Given the description of an element on the screen output the (x, y) to click on. 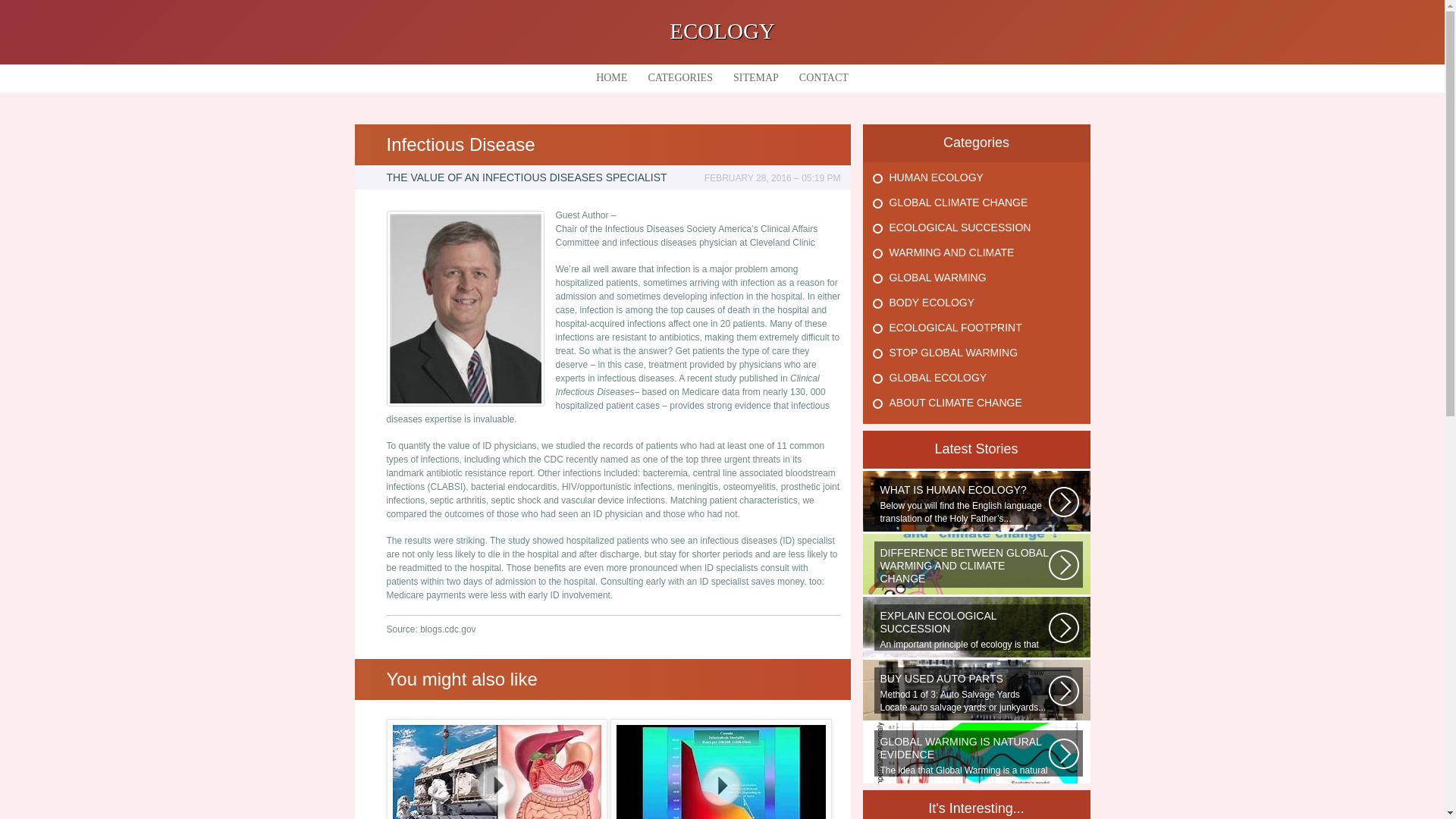
HUMAN ECOLOGY (935, 177)
View all posts filed under Ecological Succession (959, 227)
ECOLOGY (721, 30)
View all posts filed under Global Warming (936, 277)
ECOLOGICAL FOOTPRINT (955, 327)
BODY ECOLOGY (931, 302)
View all posts filed under Warming And Climate (950, 252)
View all posts filed under Body Ecology (931, 302)
GLOBAL CLIMATE CHANGE (957, 202)
View all posts filed under Ecological Footprint (955, 327)
WARMING AND CLIMATE (950, 252)
STOP GLOBAL WARMING (952, 352)
View this video from YouTube (720, 769)
View this video from YouTube (497, 769)
